Given the description of an element on the screen output the (x, y) to click on. 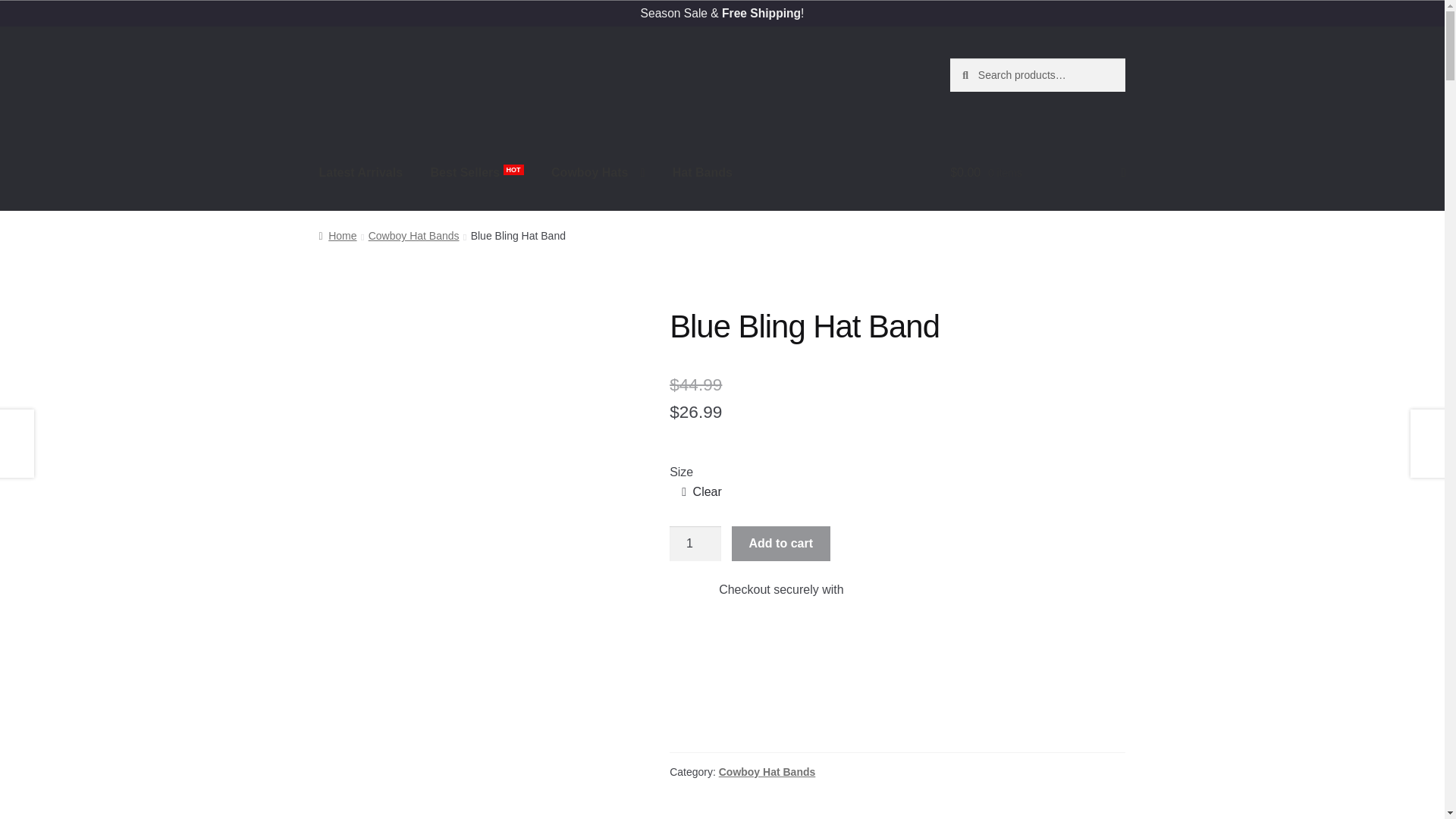
1 (694, 543)
Home (337, 235)
Best Sellers HOT (477, 172)
Cowboy Hats (597, 172)
Cowboy Hat Bands (767, 771)
Cowboy Hat Bands (414, 235)
Hat Bands (702, 172)
Add to cart (780, 543)
